Given the description of an element on the screen output the (x, y) to click on. 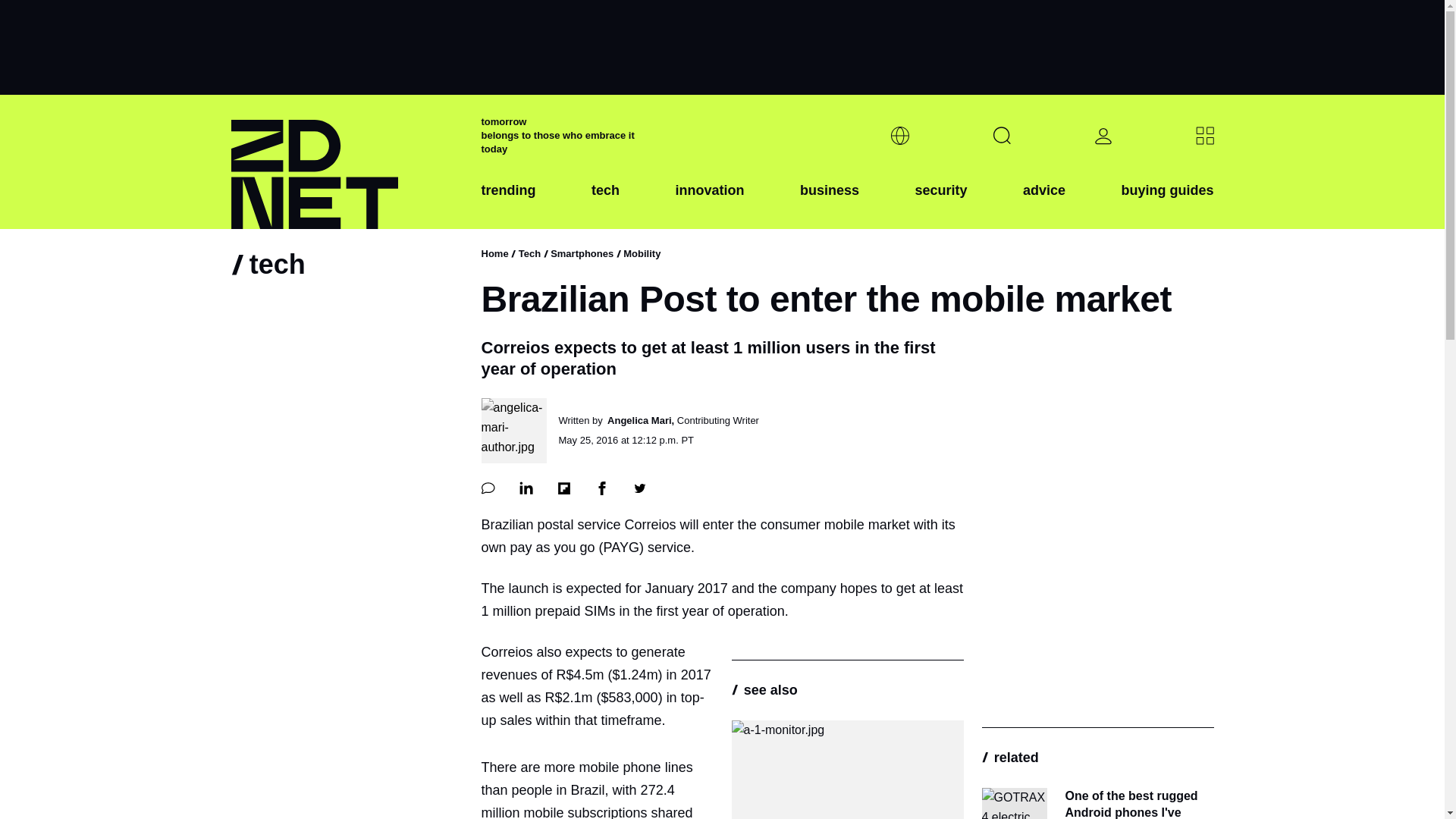
trending (507, 202)
ZDNET (346, 162)
